Given the description of an element on the screen output the (x, y) to click on. 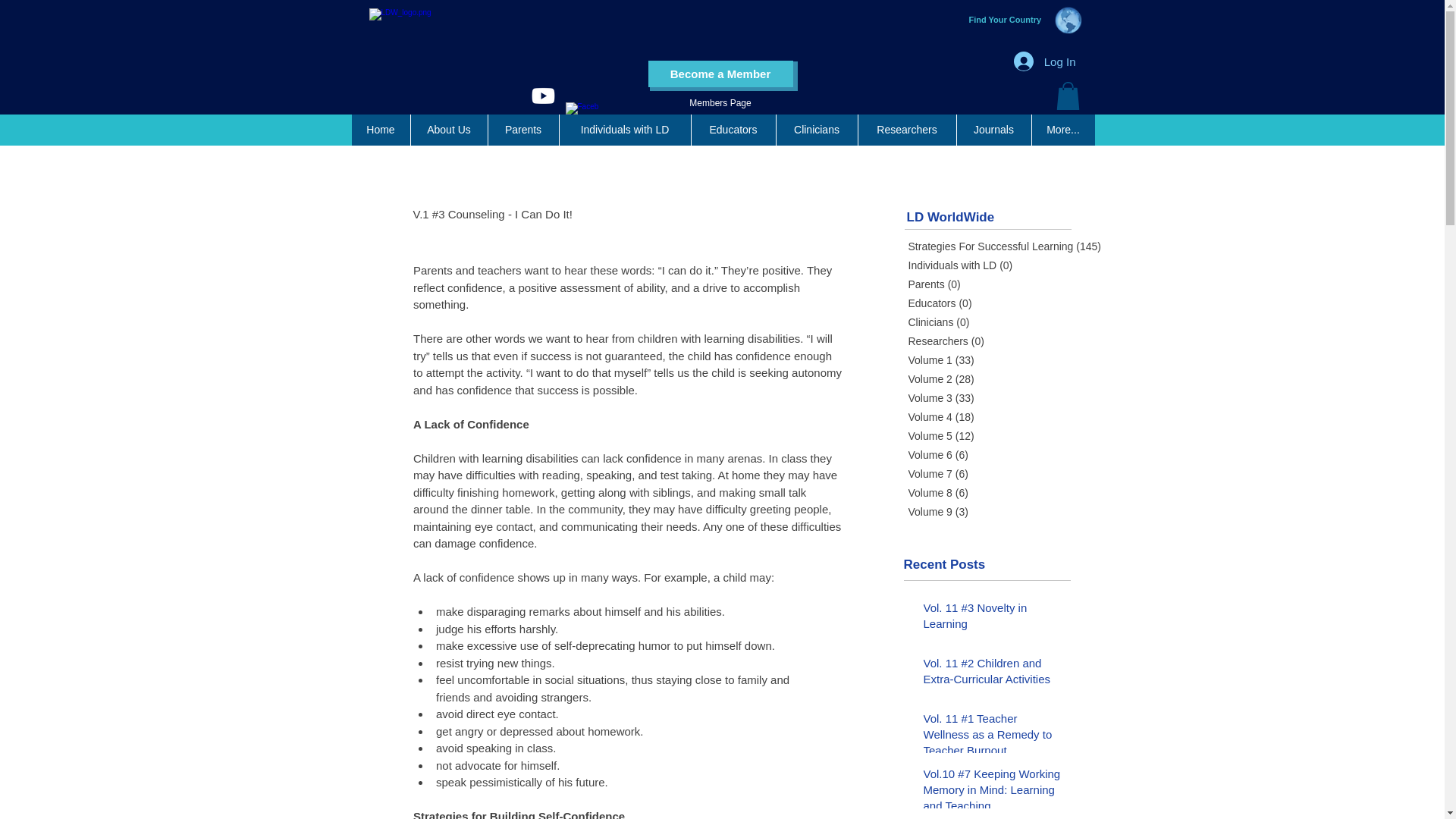
About Us (447, 129)
Find Your Country (1005, 19)
Log In (1044, 61)
Become a Member (719, 73)
Educators (732, 129)
Clinicians (815, 129)
Individuals with LD (623, 129)
Home (381, 129)
Parents (521, 129)
Members Page (720, 103)
